Given the description of an element on the screen output the (x, y) to click on. 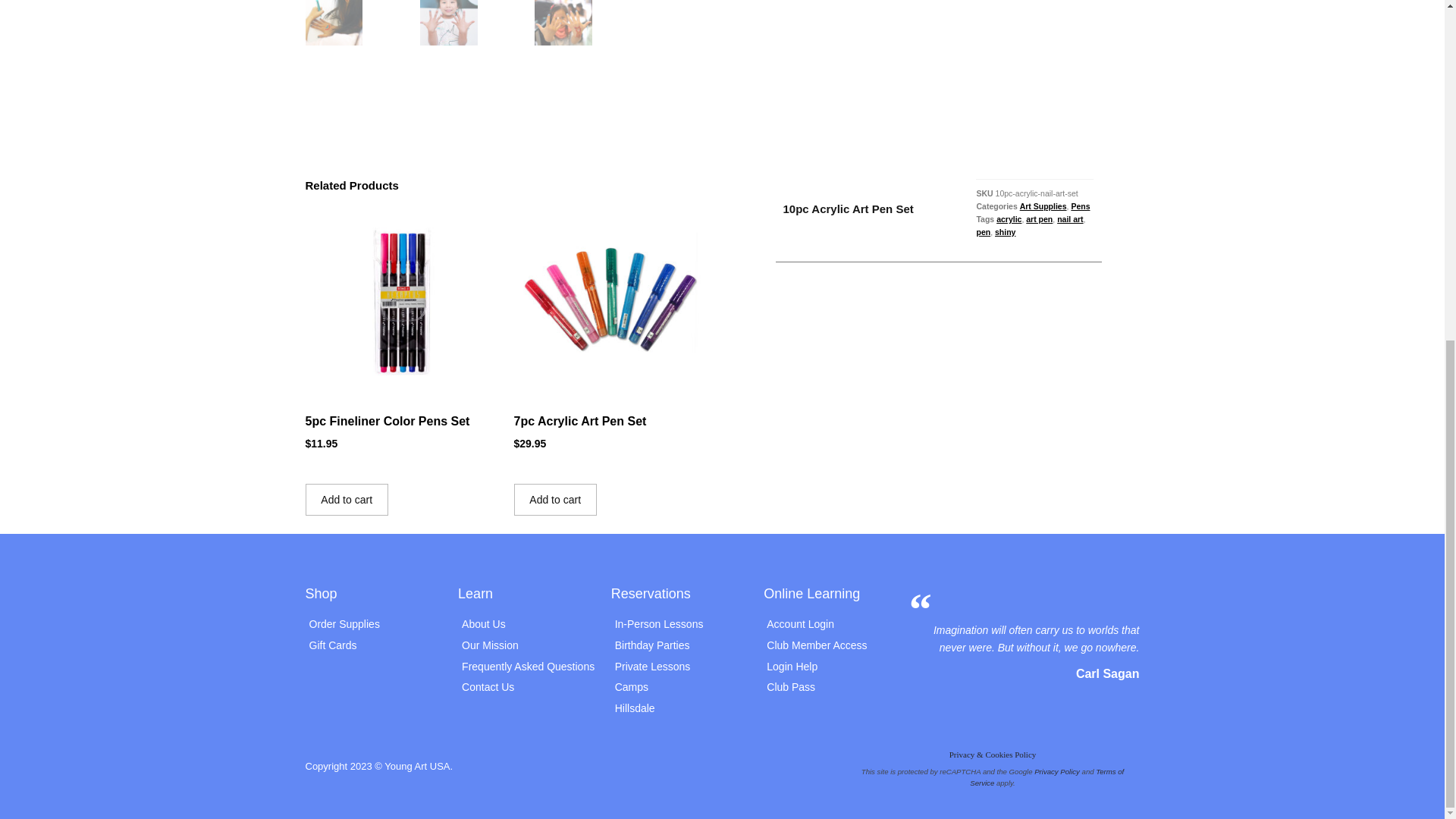
art pen (1039, 218)
Contact Us (526, 687)
Our Mission (526, 645)
pen (982, 231)
nail art (1070, 218)
Add to cart (554, 499)
Add to cart (345, 499)
Frequently Asked Questions (526, 666)
About Us (526, 624)
Pens (1079, 205)
acrylic (1008, 218)
Order Supplies (373, 624)
shiny (1004, 231)
Art Supplies (1043, 205)
Gift Cards (373, 645)
